Given the description of an element on the screen output the (x, y) to click on. 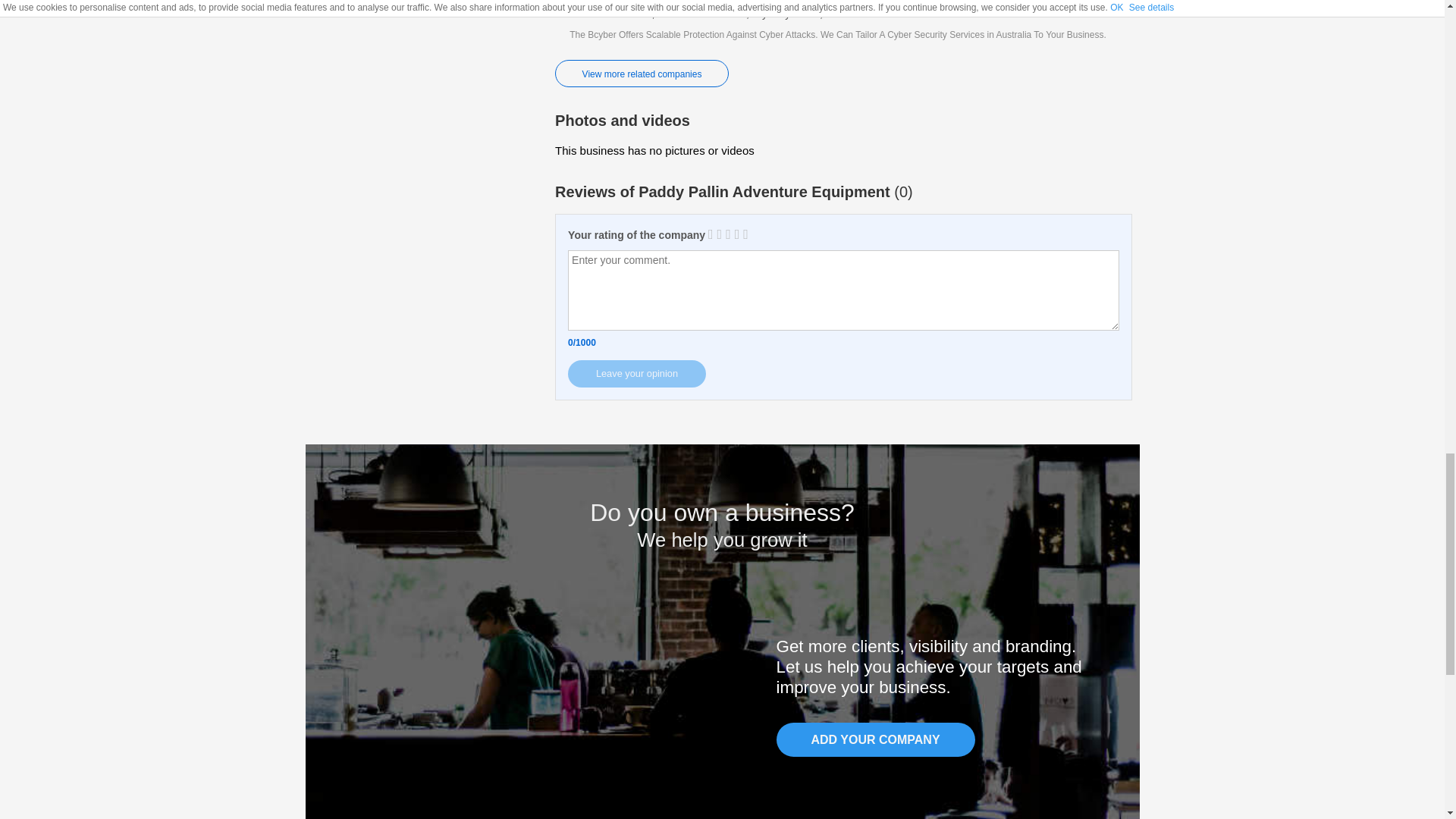
Bcyber - Sydney (843, 29)
